Given the description of an element on the screen output the (x, y) to click on. 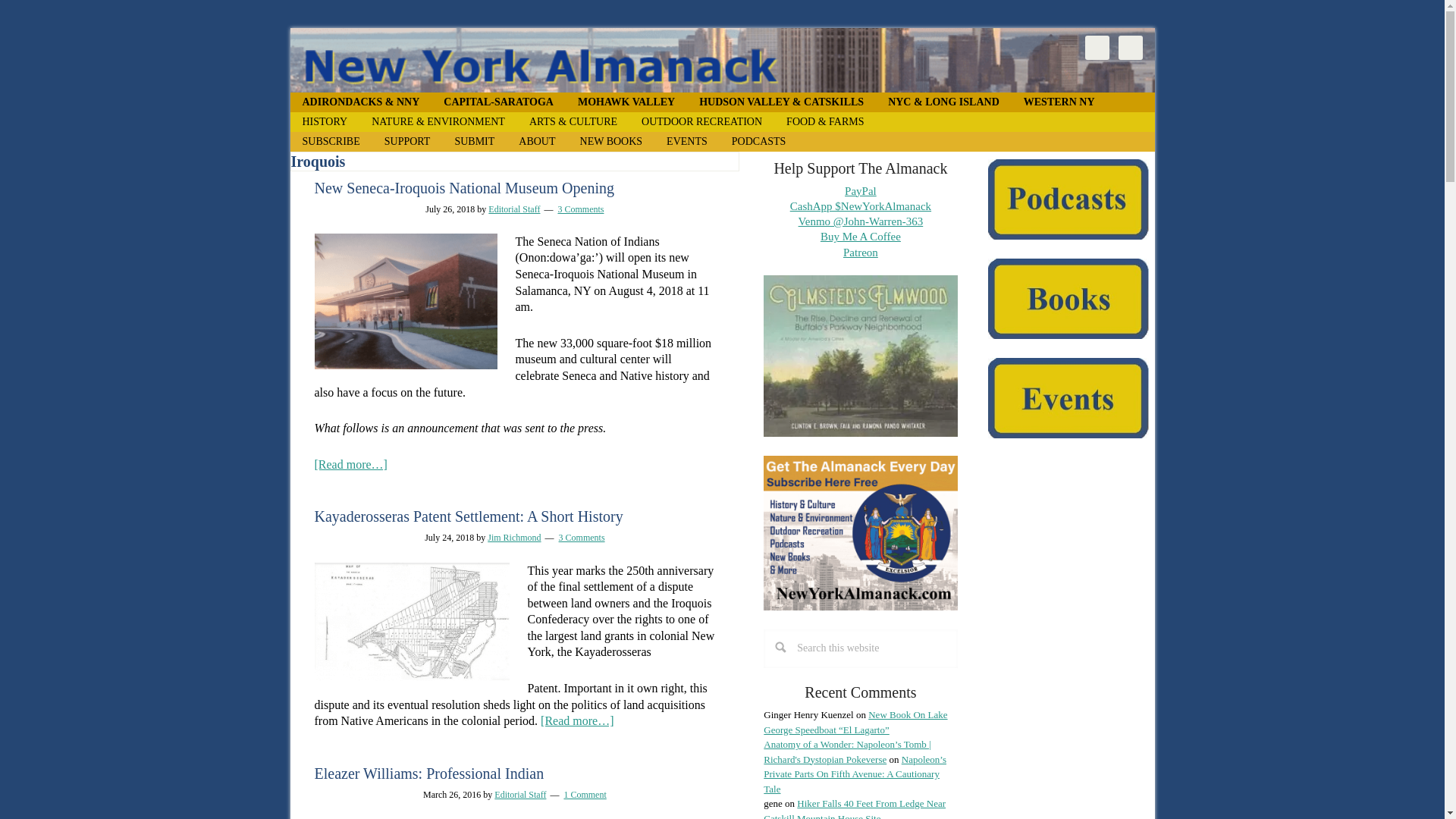
MOHAWK VALLEY (626, 102)
EVENTS (686, 141)
WESTERN NY (1058, 102)
Editorial Staff (513, 208)
3 Comments (580, 208)
New York Almanack (721, 59)
SUBSCRIBE (330, 141)
SUPPORT (407, 141)
PODCASTS (758, 141)
NEW BOOKS (611, 141)
New Seneca-Iroquois National Museum Opening (463, 187)
CAPITAL-SARATOGA (498, 102)
ABOUT (536, 141)
HISTORY (324, 121)
SUBMIT (474, 141)
